Given the description of an element on the screen output the (x, y) to click on. 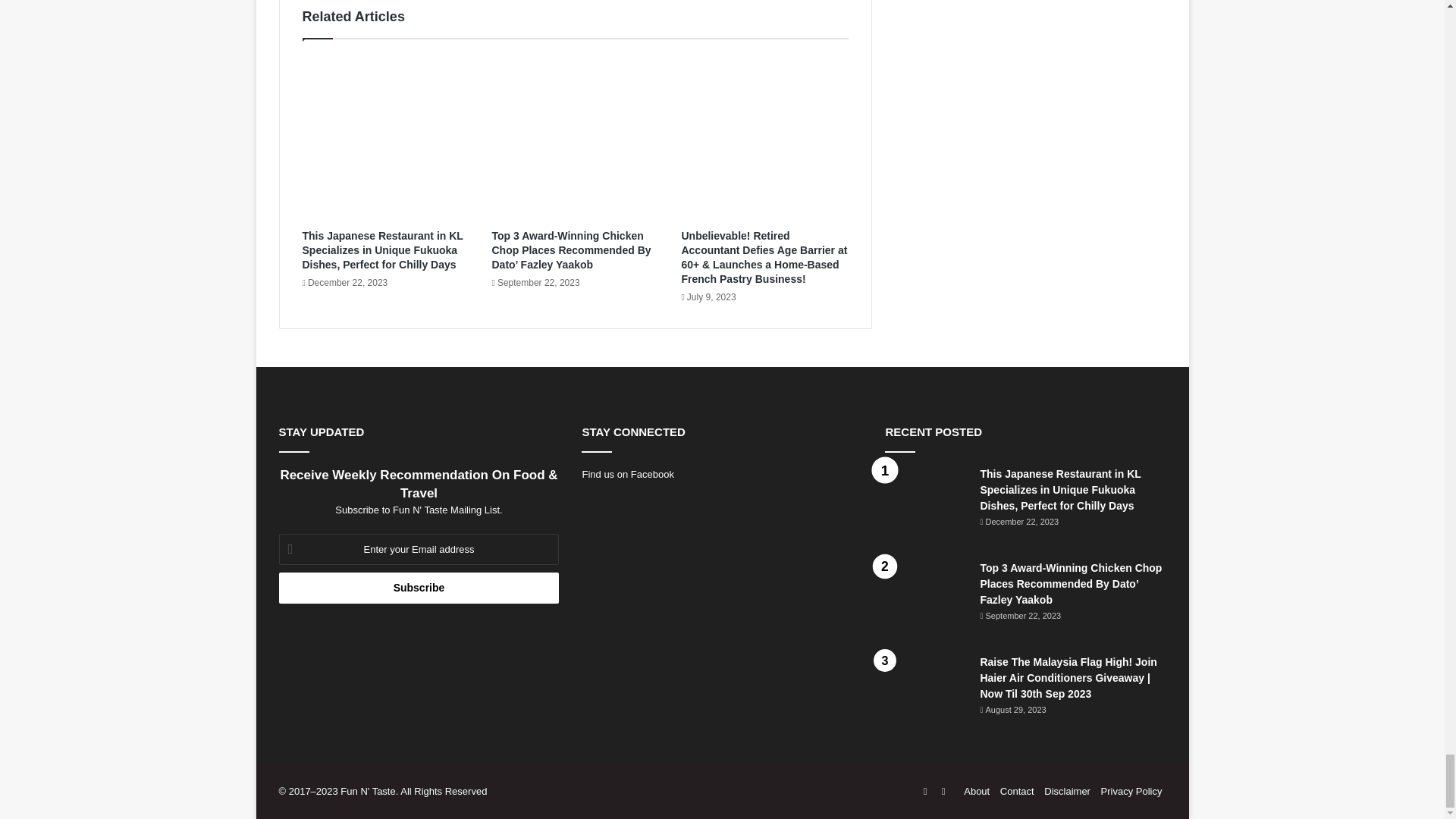
Subscribe (419, 587)
